Given the description of an element on the screen output the (x, y) to click on. 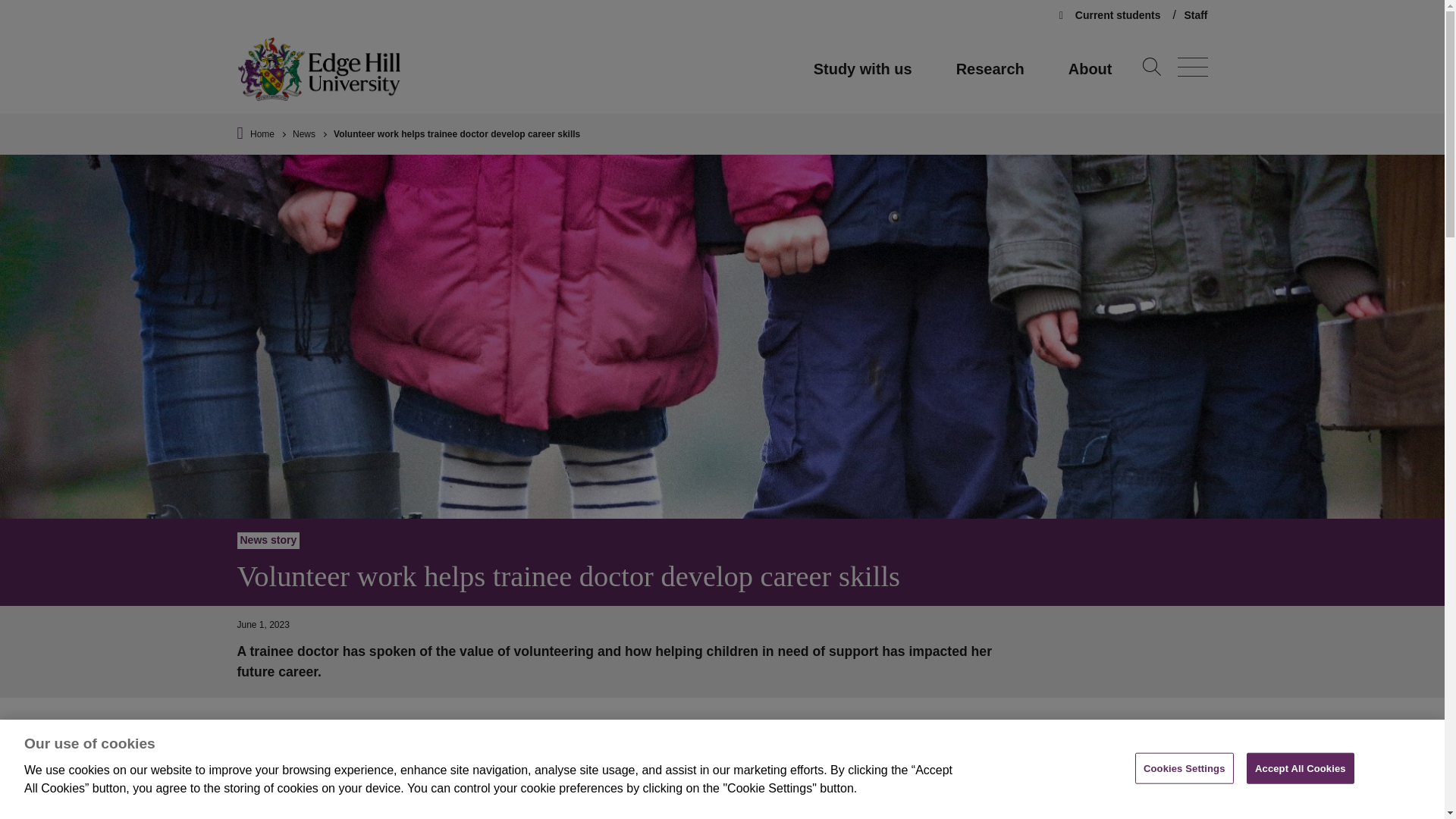
Study with us (862, 68)
Staff (1195, 15)
Research (990, 68)
Current students (1111, 15)
About (1090, 68)
